Given the description of an element on the screen output the (x, y) to click on. 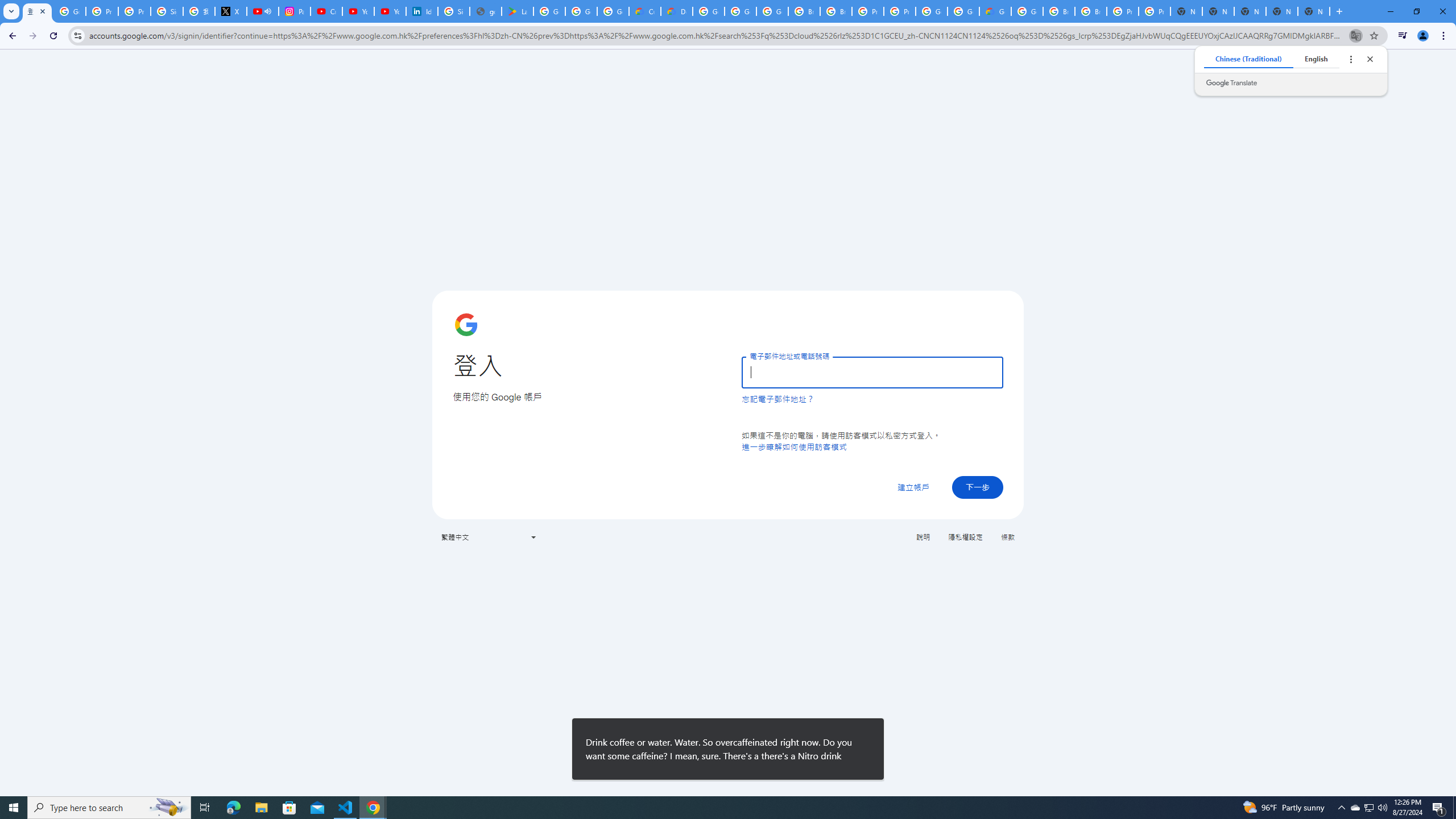
Browse Chrome as a guest - Computer - Google Chrome Help (1091, 11)
Google Cloud Platform (708, 11)
Sign in - Google Accounts (453, 11)
Translate this page (1355, 35)
Last Shelter: Survival - Apps on Google Play (517, 11)
New Tab (1313, 11)
YouTube Culture & Trends - YouTube Top 10, 2021 (389, 11)
